Given the description of an element on the screen output the (x, y) to click on. 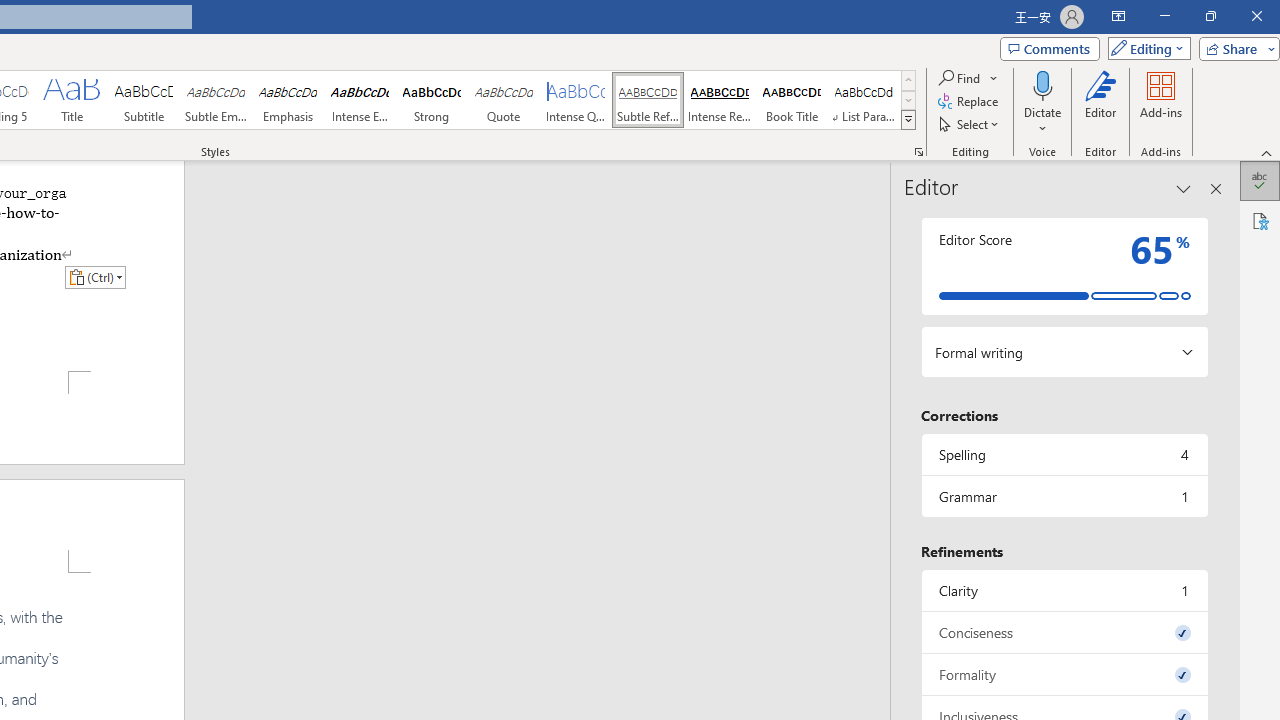
Editor Score 65% (1064, 266)
